Given the description of an element on the screen output the (x, y) to click on. 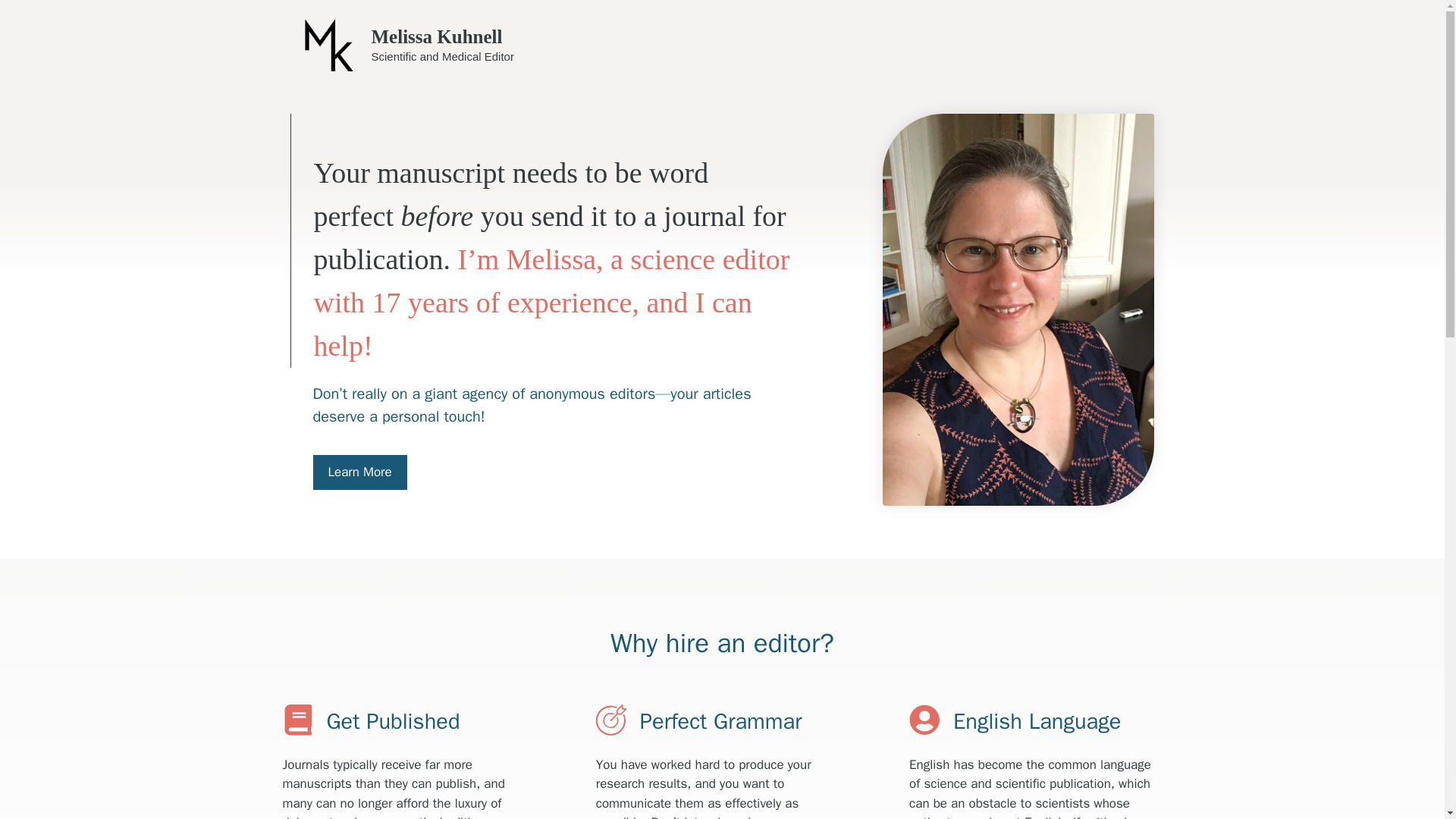
Learn More (359, 472)
Melissa Kuhnell (436, 36)
